Given the description of an element on the screen output the (x, y) to click on. 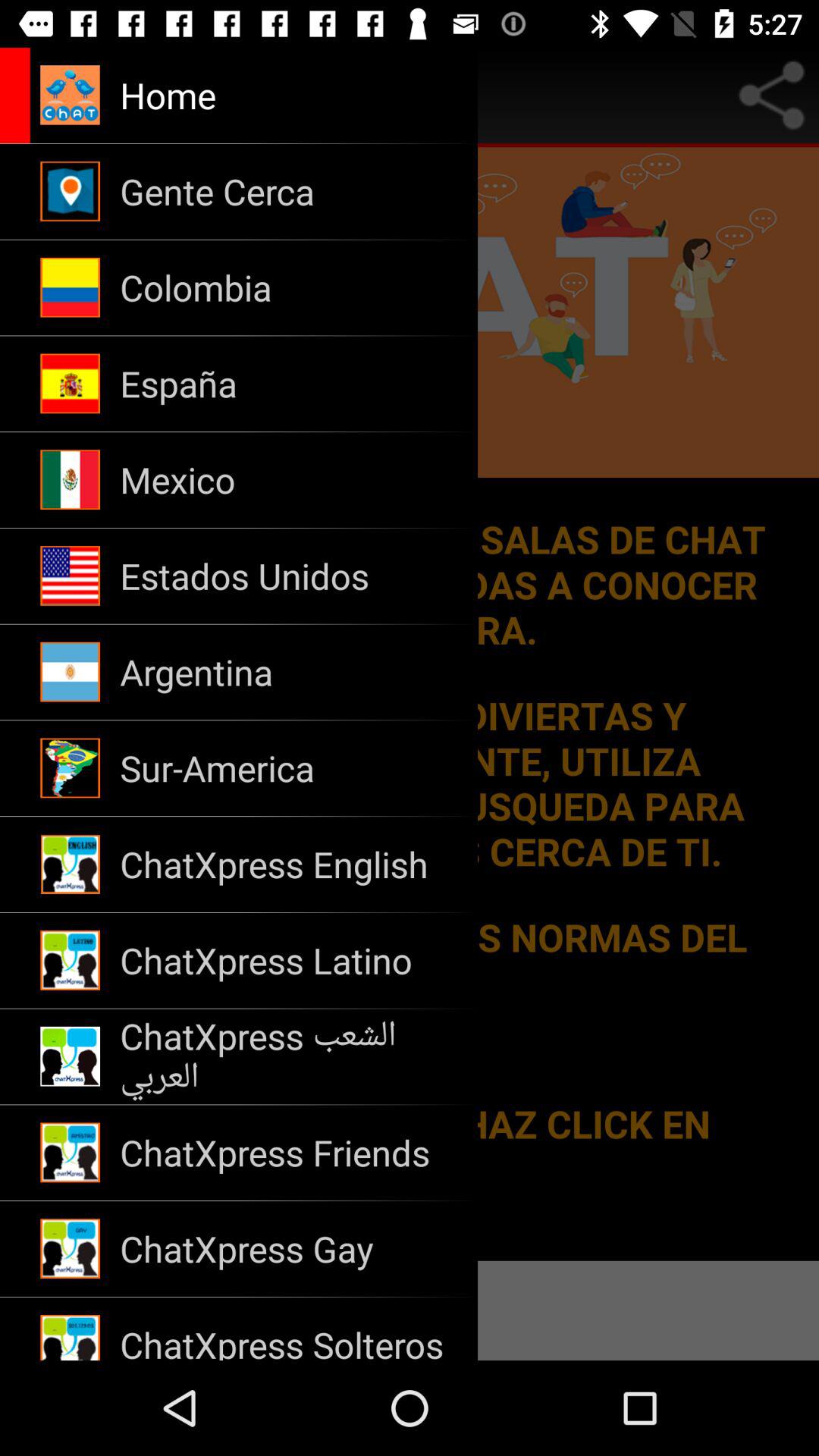
tap the icon below colombia icon (288, 383)
